Given the description of an element on the screen output the (x, y) to click on. 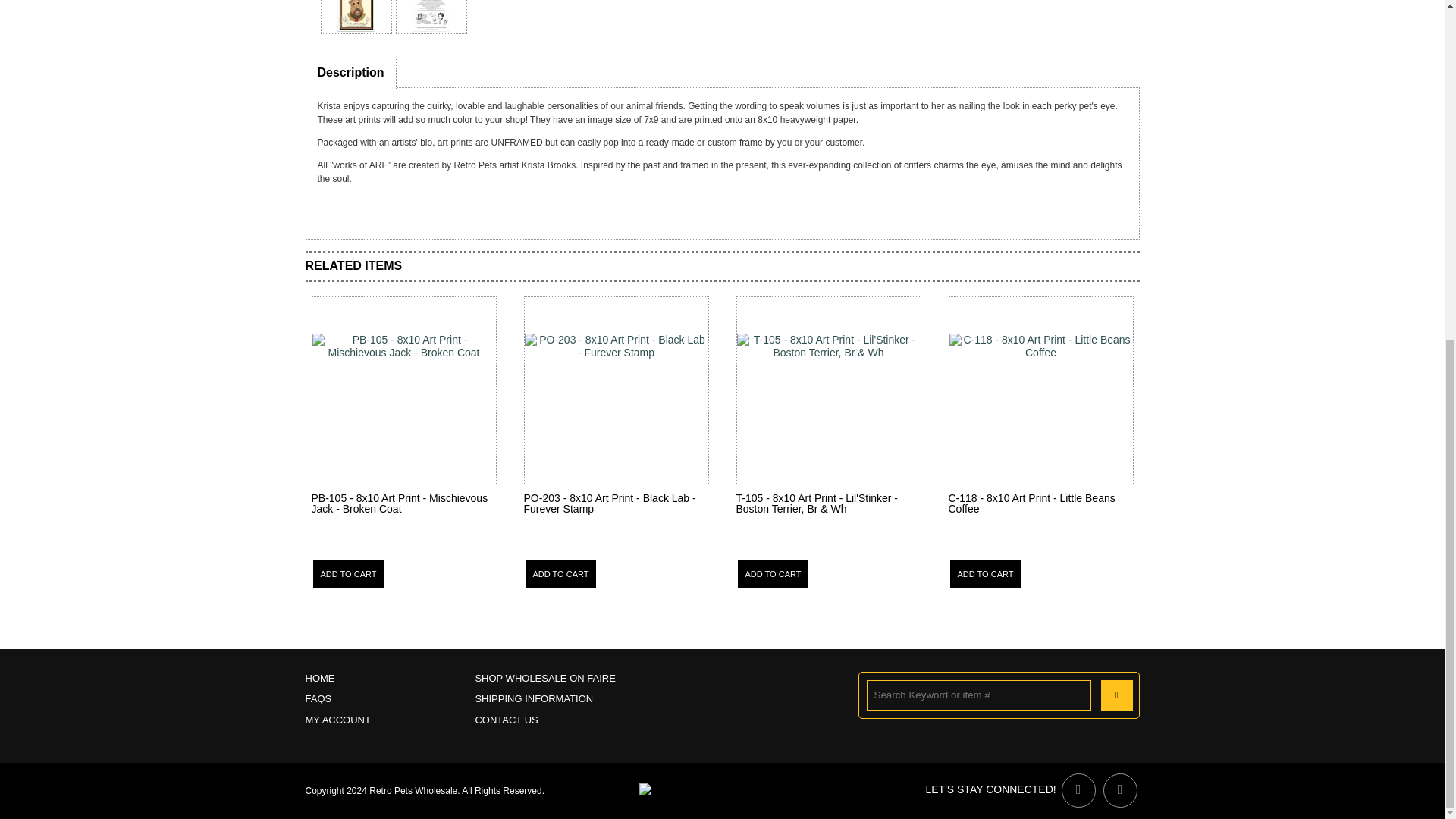
Description (350, 71)
Add To Cart (772, 573)
PB-105 - 8x10 Art Print - Mischievous Jack - Broken Coat (399, 503)
Add To Cart (348, 573)
Follow Us on Instagram (1119, 790)
PO-203 - 8x10 Art Print - Black Lab - Furever Stamp (608, 503)
Add To Cart (984, 573)
Add To Cart (559, 573)
Like Us on Facebook (1078, 790)
